Given the description of an element on the screen output the (x, y) to click on. 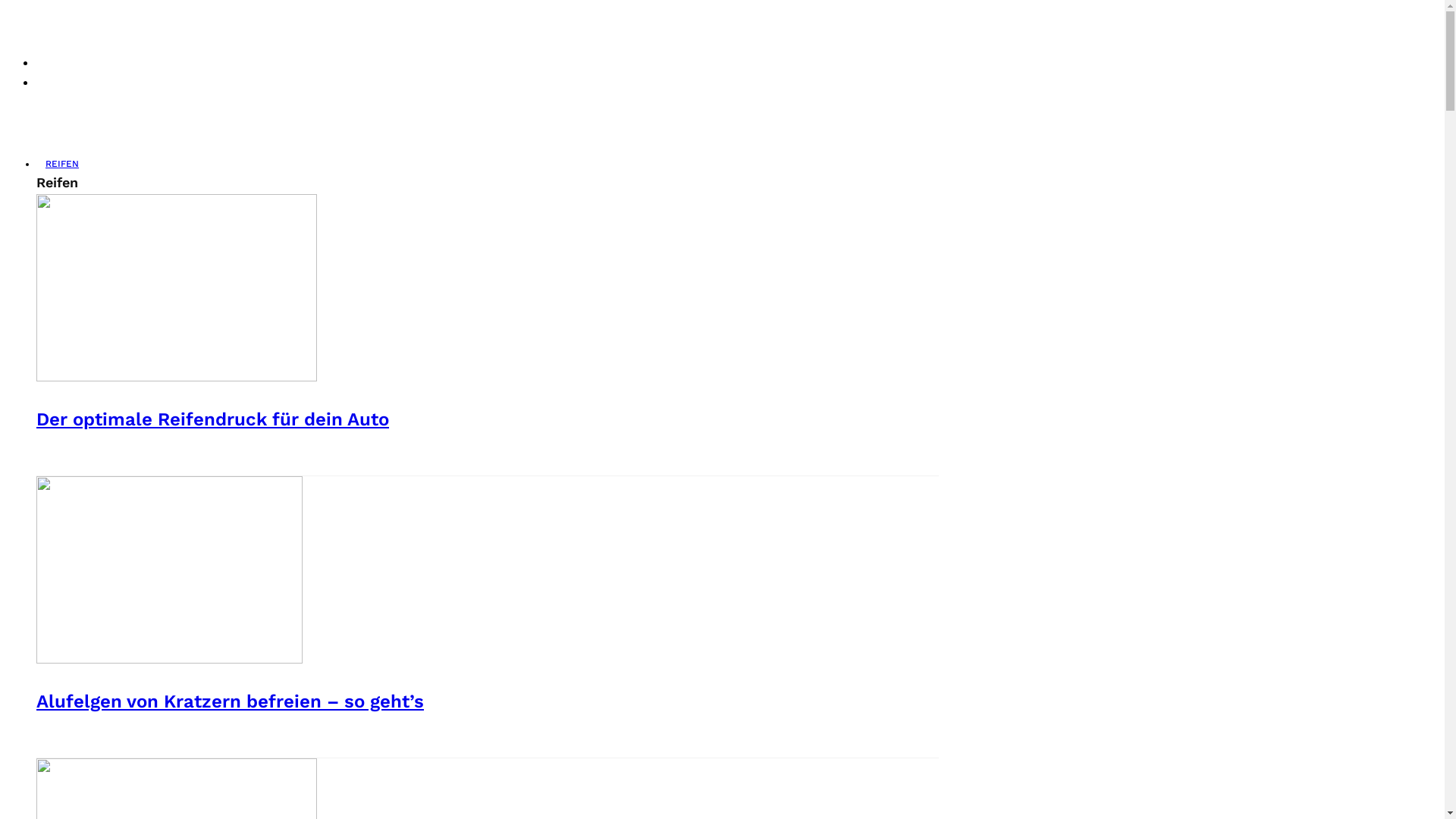
REIFEN Element type: text (61, 163)
